Given the description of an element on the screen output the (x, y) to click on. 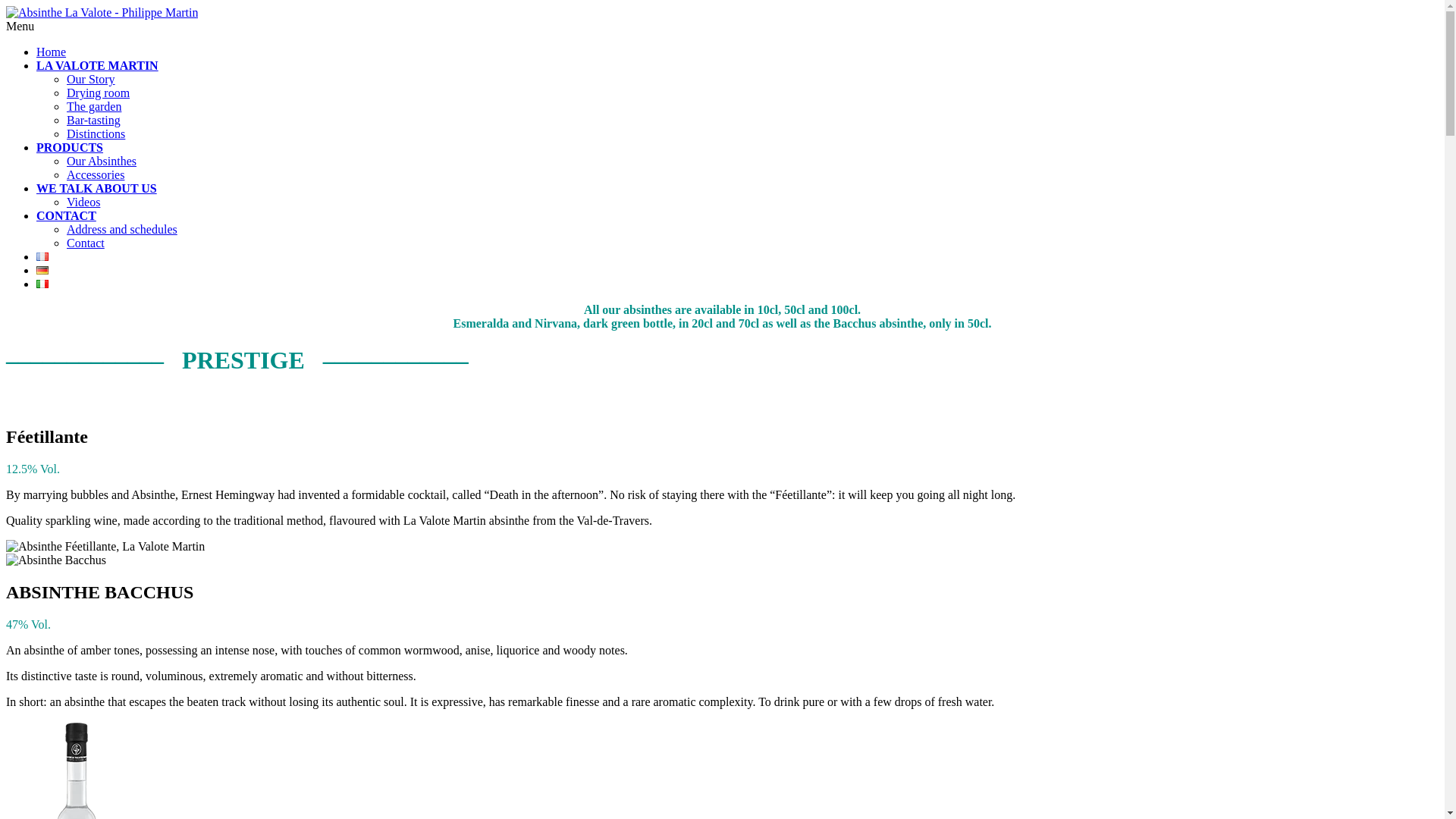
Home Element type: text (50, 51)
Drying room Element type: text (97, 92)
Bacchus Element type: hover (56, 560)
Our Story Element type: text (90, 78)
WE TALK ABOUT US Element type: text (96, 188)
Absinthe La Valote - Philippe Martin Element type: hover (101, 12)
Contact Element type: text (85, 242)
Bar-tasting Element type: text (93, 119)
Videos Element type: text (83, 201)
CONTACT Element type: text (66, 215)
LaValoteMartin_Logo Element type: hover (101, 12)
LA VALOTE MARTIN Element type: text (97, 65)
The garden Element type: text (93, 106)
Accessories Element type: text (95, 174)
Distinctions Element type: text (95, 133)
Address and schedules Element type: text (121, 228)
PRODUCTS Element type: text (69, 147)
Our Absinthes Element type: text (101, 160)
Martin-Feetillante Element type: hover (105, 546)
